Given the description of an element on the screen output the (x, y) to click on. 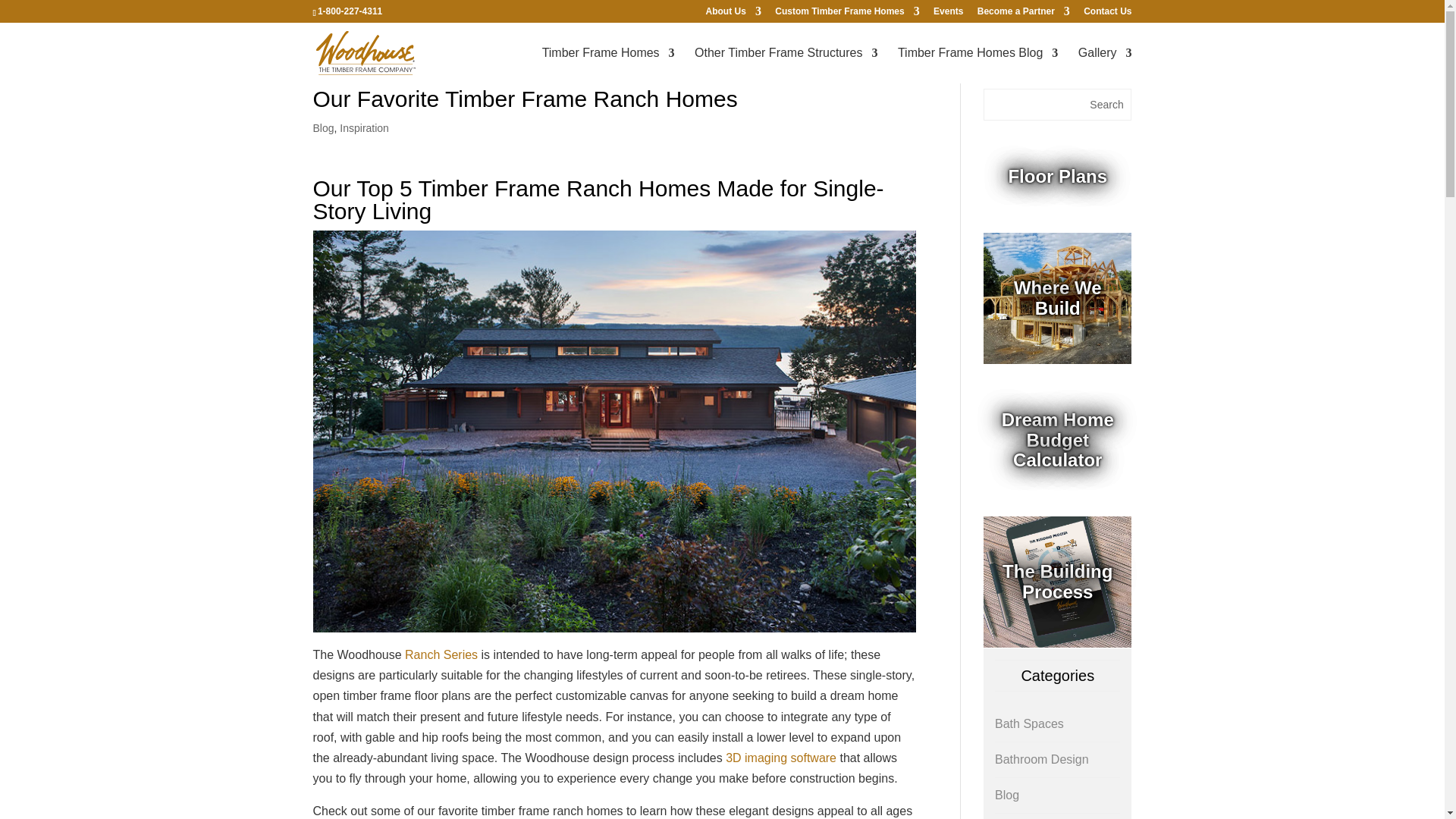
Contact Us (1107, 14)
Timber Frame Homes Blog (978, 65)
Timber Frame Homes Blog (430, 53)
Gallery (1105, 65)
Become a Partner (1023, 14)
Search (1107, 104)
Events (947, 14)
Home (329, 53)
Blog (323, 128)
Other Timber Frame Structures (785, 65)
Custom Timber Frame Homes (847, 14)
About Us (733, 14)
Timber Frame Homes (608, 65)
